Given the description of an element on the screen output the (x, y) to click on. 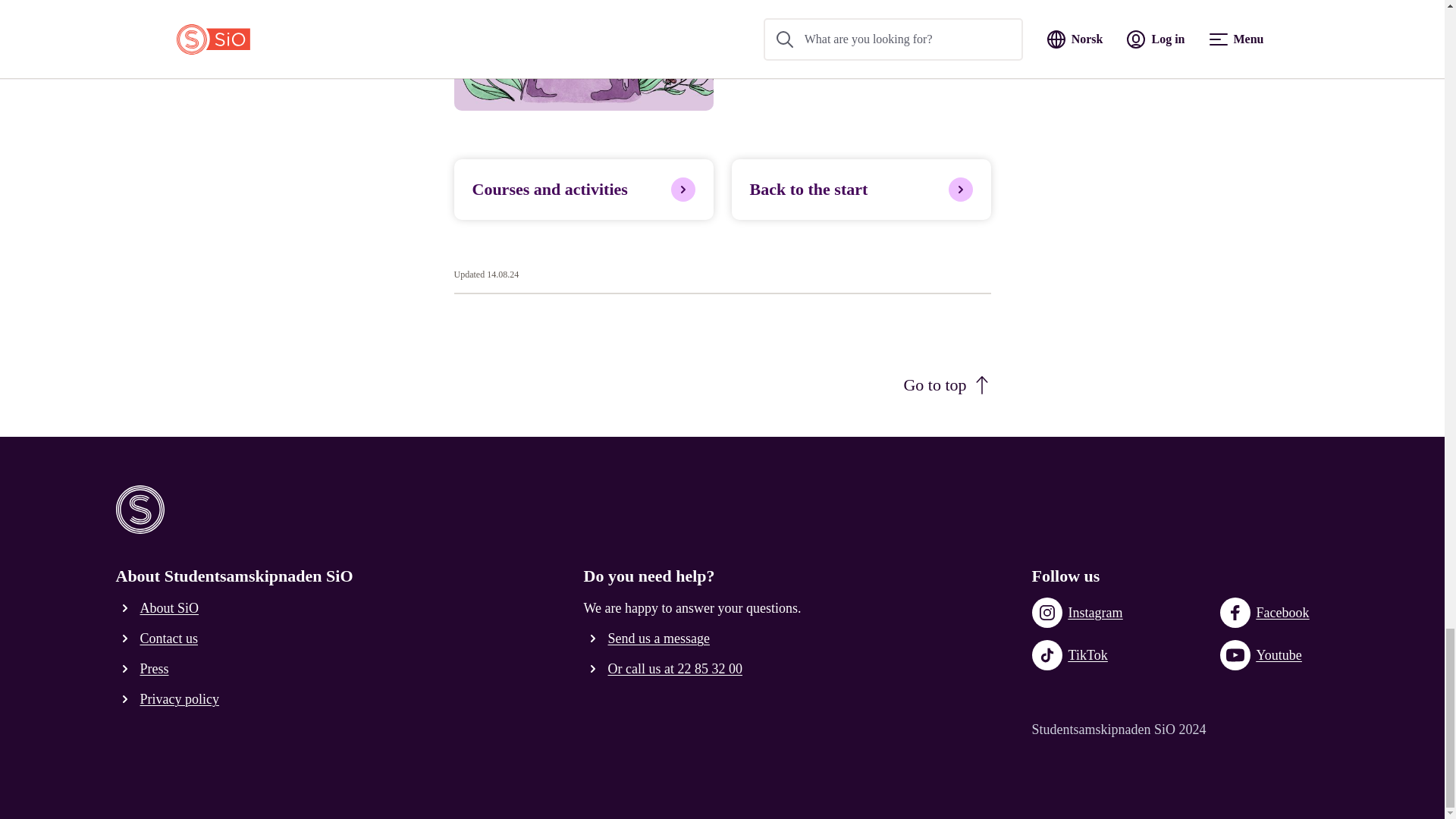
About SiO (160, 608)
Send us a message (649, 638)
Download app (787, 42)
youtube-icon (1235, 654)
chevron (124, 669)
Press (144, 668)
chevron (124, 699)
Back to the start (860, 189)
Facebook (1265, 612)
chevron (124, 607)
